Given the description of an element on the screen output the (x, y) to click on. 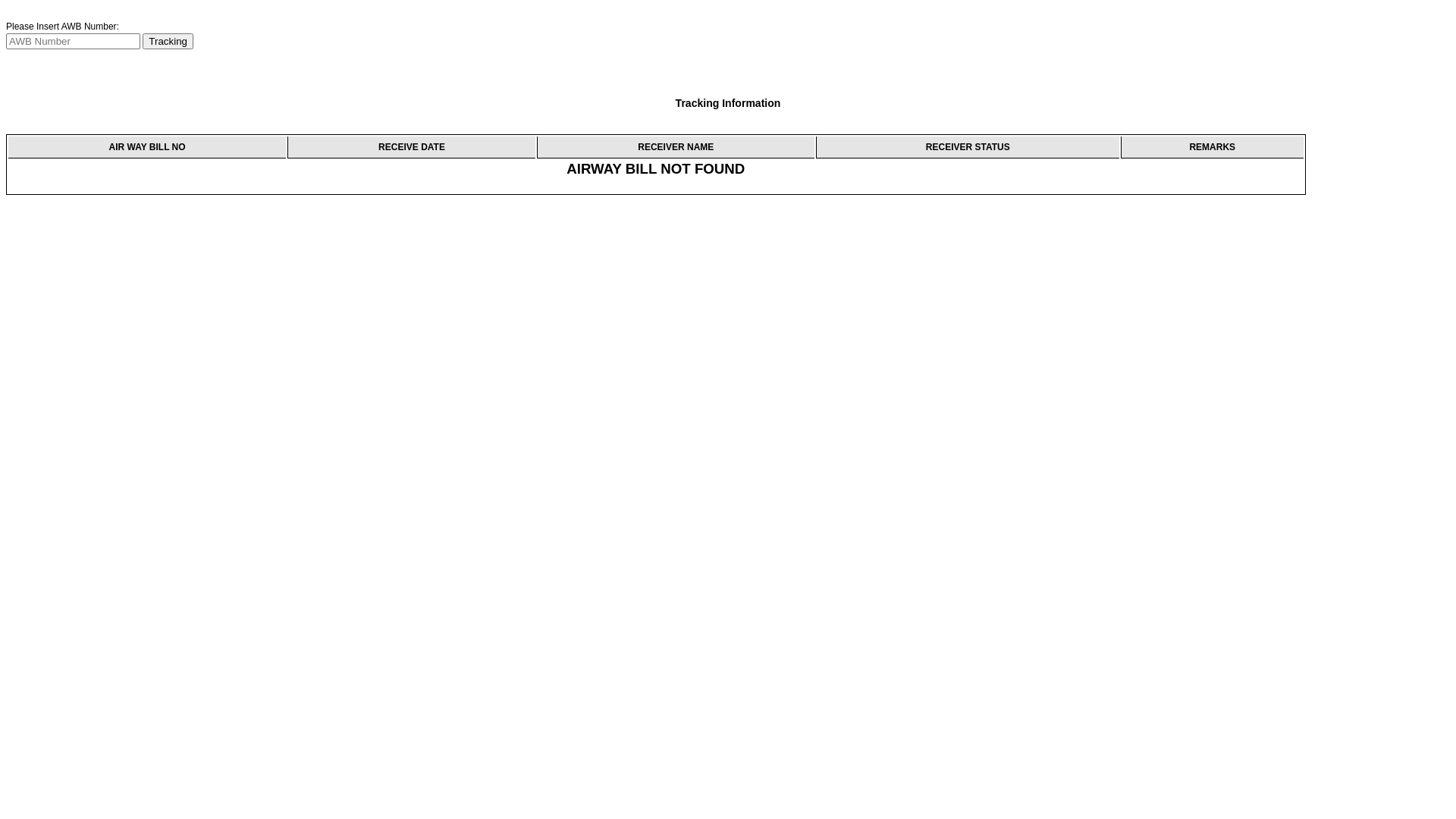
Tracking Element type: text (167, 41)
